Given the description of an element on the screen output the (x, y) to click on. 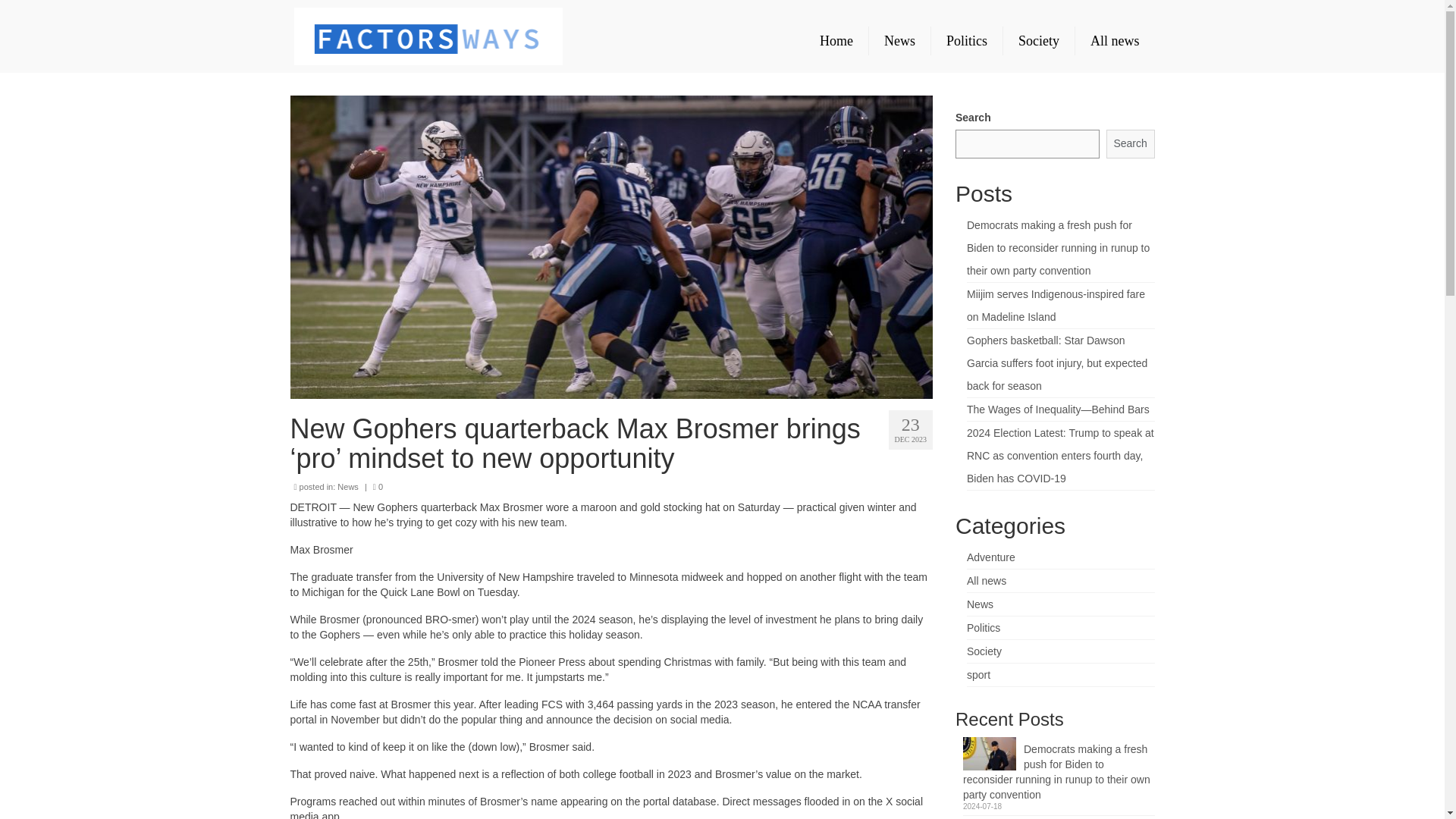
News (979, 604)
Search (1130, 143)
News (347, 486)
News (899, 40)
Home (836, 40)
Adventure (990, 557)
Miijim serves Indigenous-inspired fare on Madeline Island (1055, 305)
Politics (983, 627)
Society (983, 651)
All news (986, 580)
Society (1038, 40)
All news (1114, 40)
